Given the description of an element on the screen output the (x, y) to click on. 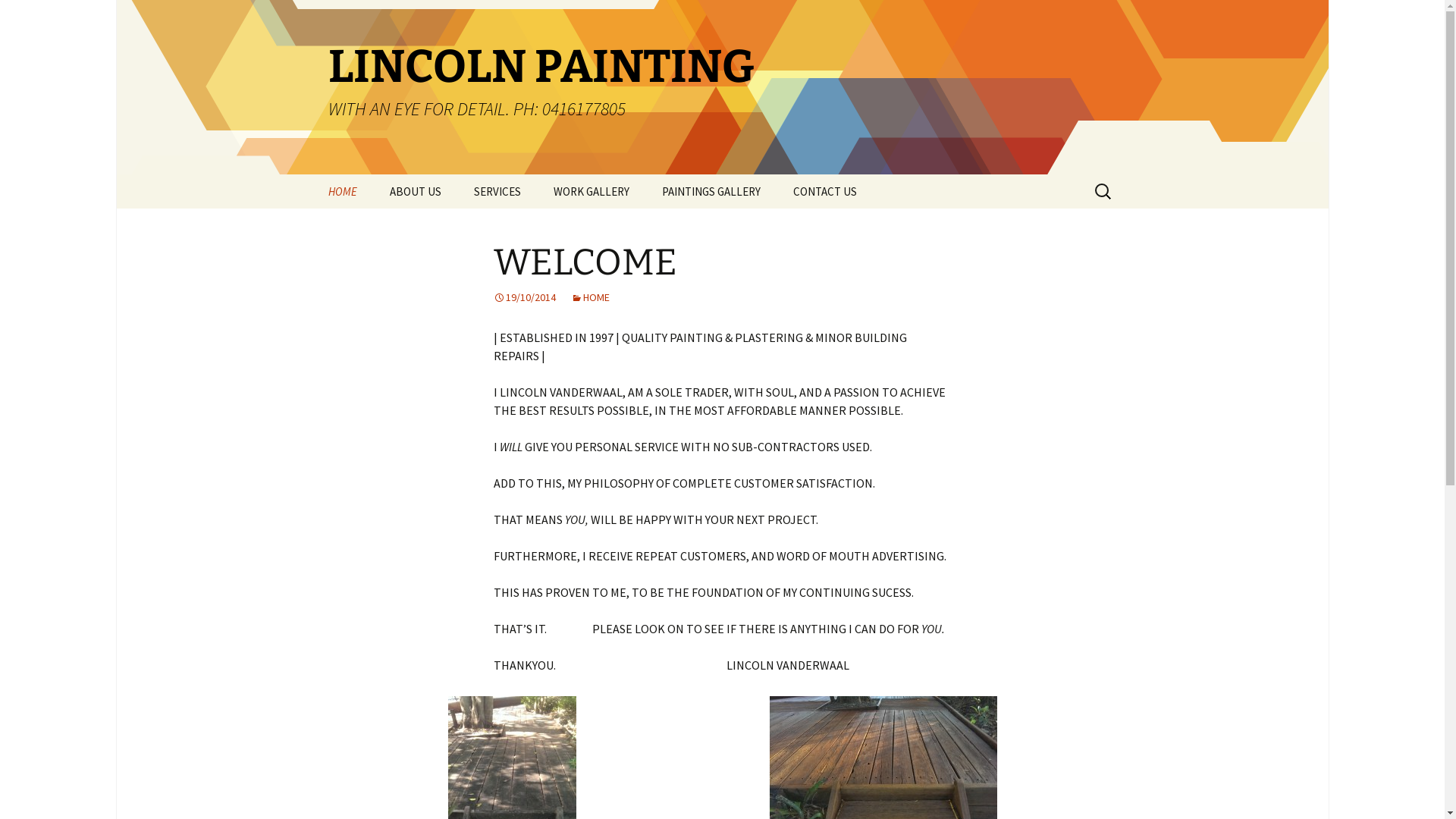
WELCOME Element type: text (584, 262)
HOME Element type: text (341, 191)
19/10/2014 Element type: text (523, 297)
Search Element type: text (18, 16)
CONTACT US Element type: text (825, 191)
LINCOLN PAINTING
WITH AN EYE FOR DETAIL. PH: 0416177805 Element type: text (721, 87)
WORK GALLERY Element type: text (591, 191)
SERVICES Element type: text (496, 191)
Skip to content Element type: text (312, 173)
PAINTINGS GALLERY Element type: text (710, 191)
Search Element type: text (34, 15)
HOME Element type: text (589, 297)
ABOUT US Element type: text (415, 191)
